Given the description of an element on the screen output the (x, y) to click on. 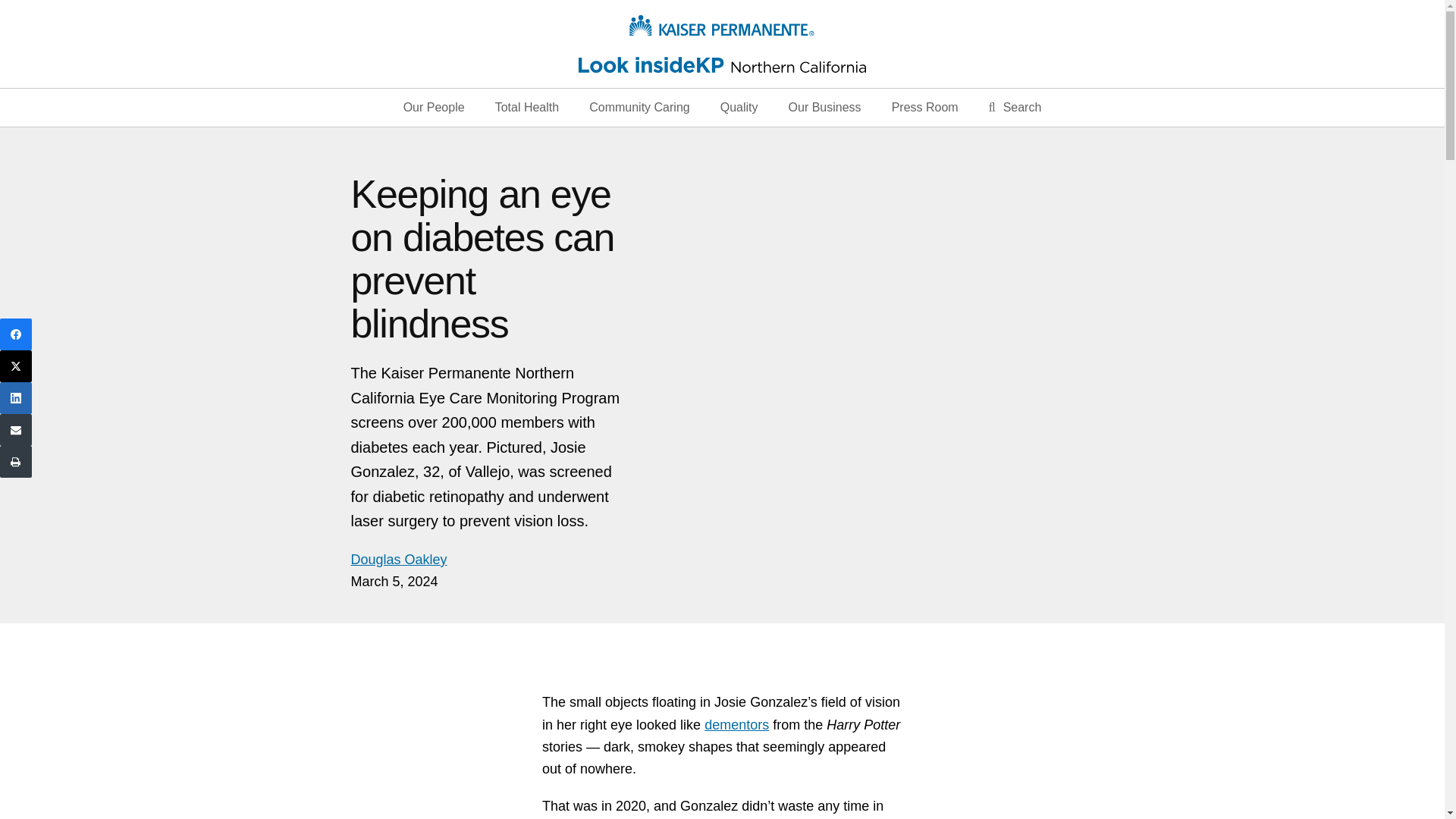
Posts by Douglas Oakley (398, 559)
Community Caring (639, 107)
Douglas Oakley (398, 559)
Search (1014, 107)
Quality (738, 107)
dementors (736, 724)
Our People (434, 107)
Press Room (924, 107)
Total Health (526, 107)
Our Business (824, 107)
